Given the description of an element on the screen output the (x, y) to click on. 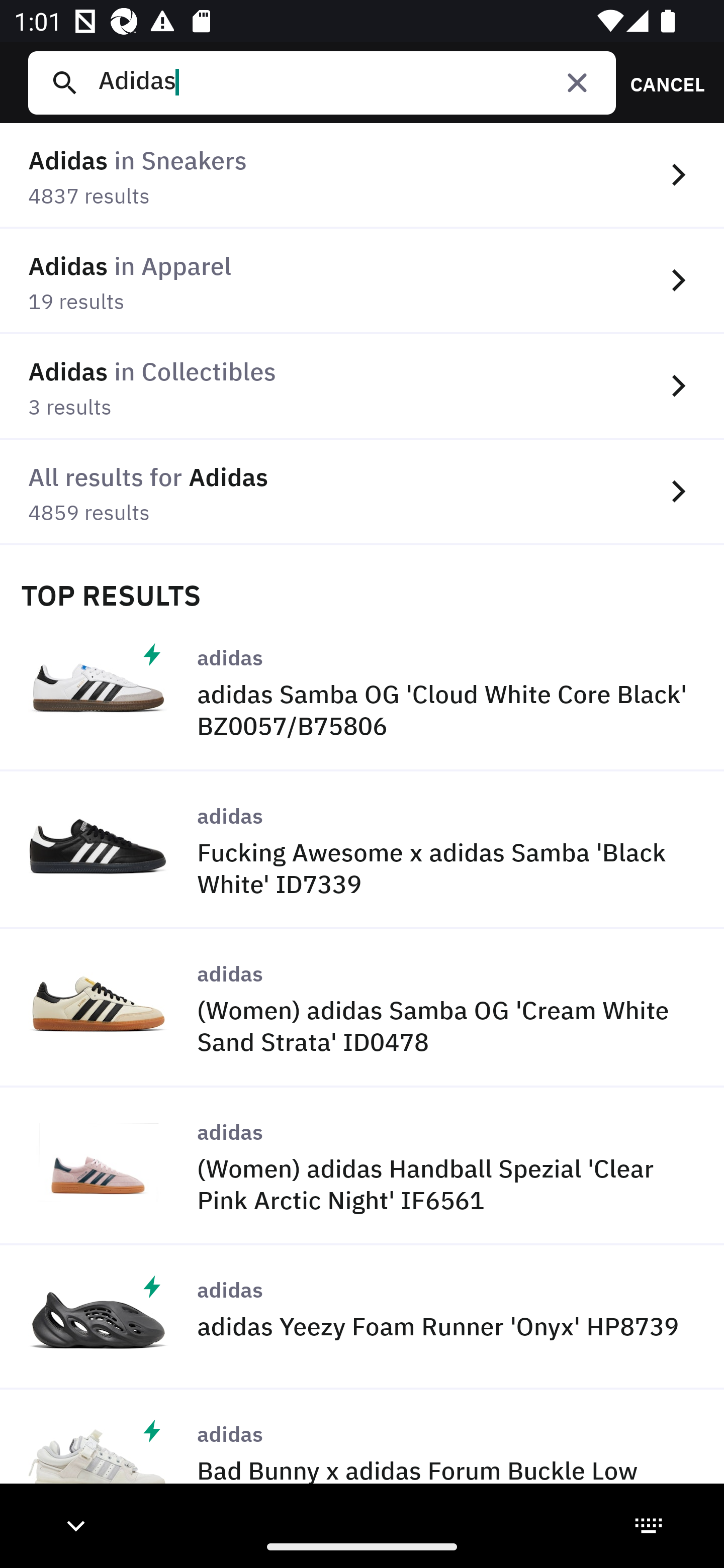
CANCEL (660, 82)
Adidas (349, 82)
 (577, 82)
Adidas  in Sneakers 4837 results  (362, 175)
Adidas  in Apparel 19 results  (362, 280)
Adidas  in Collectibles 3 results  (362, 386)
All results for  Adidas 4859 results  (362, 492)
 adidas adidas Yeezy Foam Runner 'Onyx' HP8739 (362, 1316)
